Given the description of an element on the screen output the (x, y) to click on. 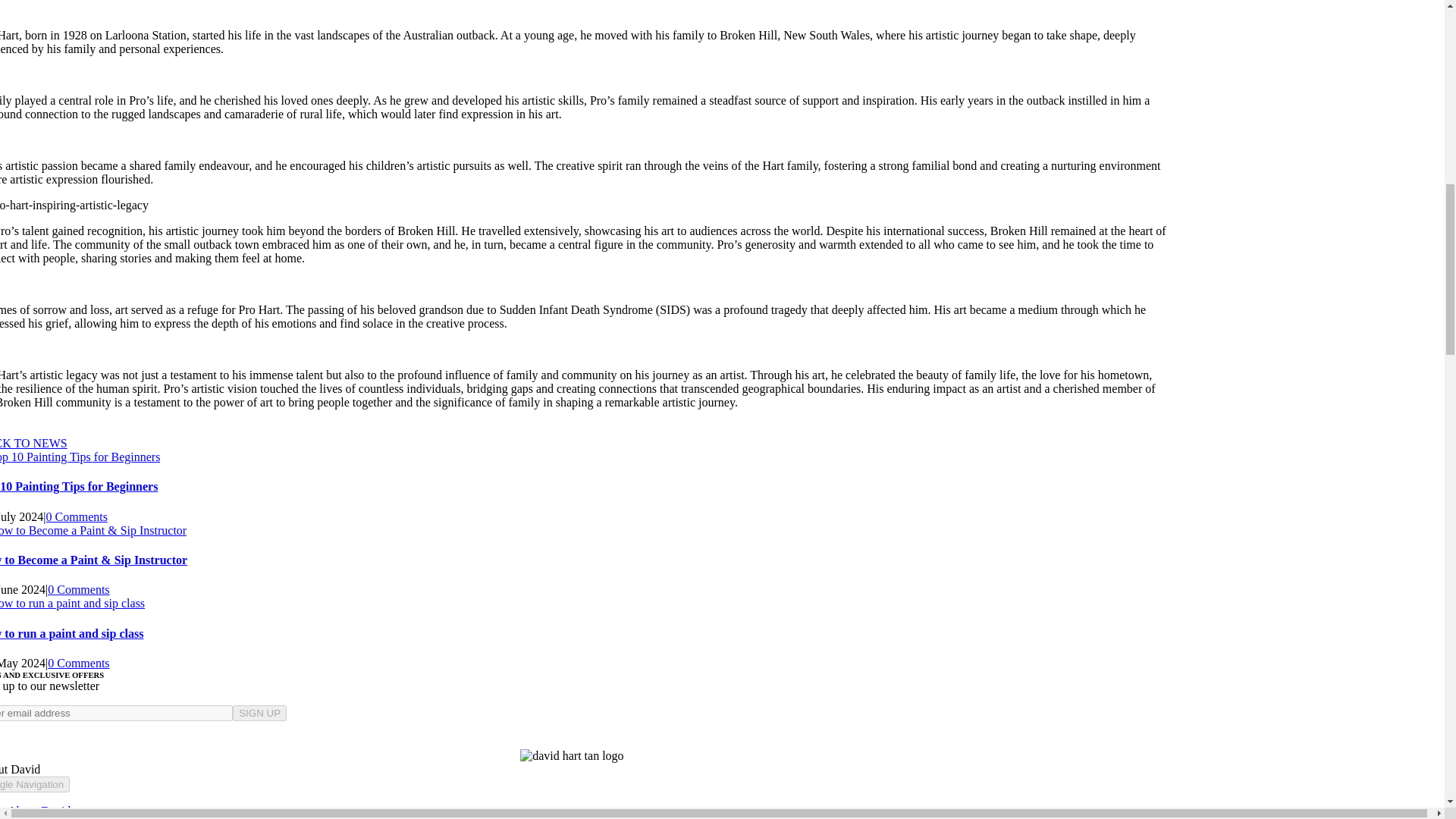
Top 10 Painting Tips for Beginners (78, 486)
SIGN UP (259, 713)
How to run a paint and sip class (71, 633)
